Given the description of an element on the screen output the (x, y) to click on. 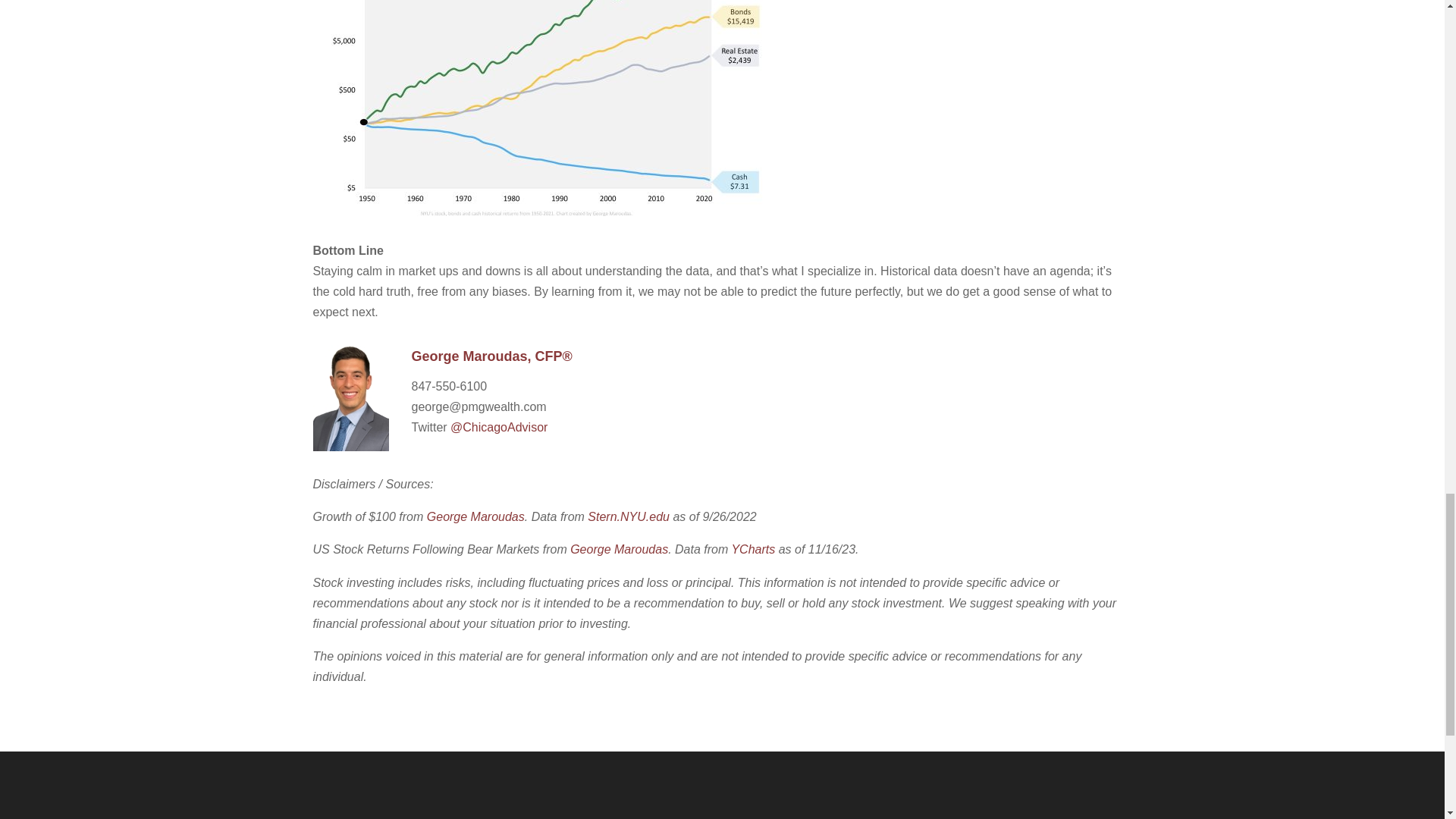
Stern.NYU.edu (628, 516)
George Maroudas (619, 549)
YCharts (752, 549)
George Maroudas (475, 516)
